Given the description of an element on the screen output the (x, y) to click on. 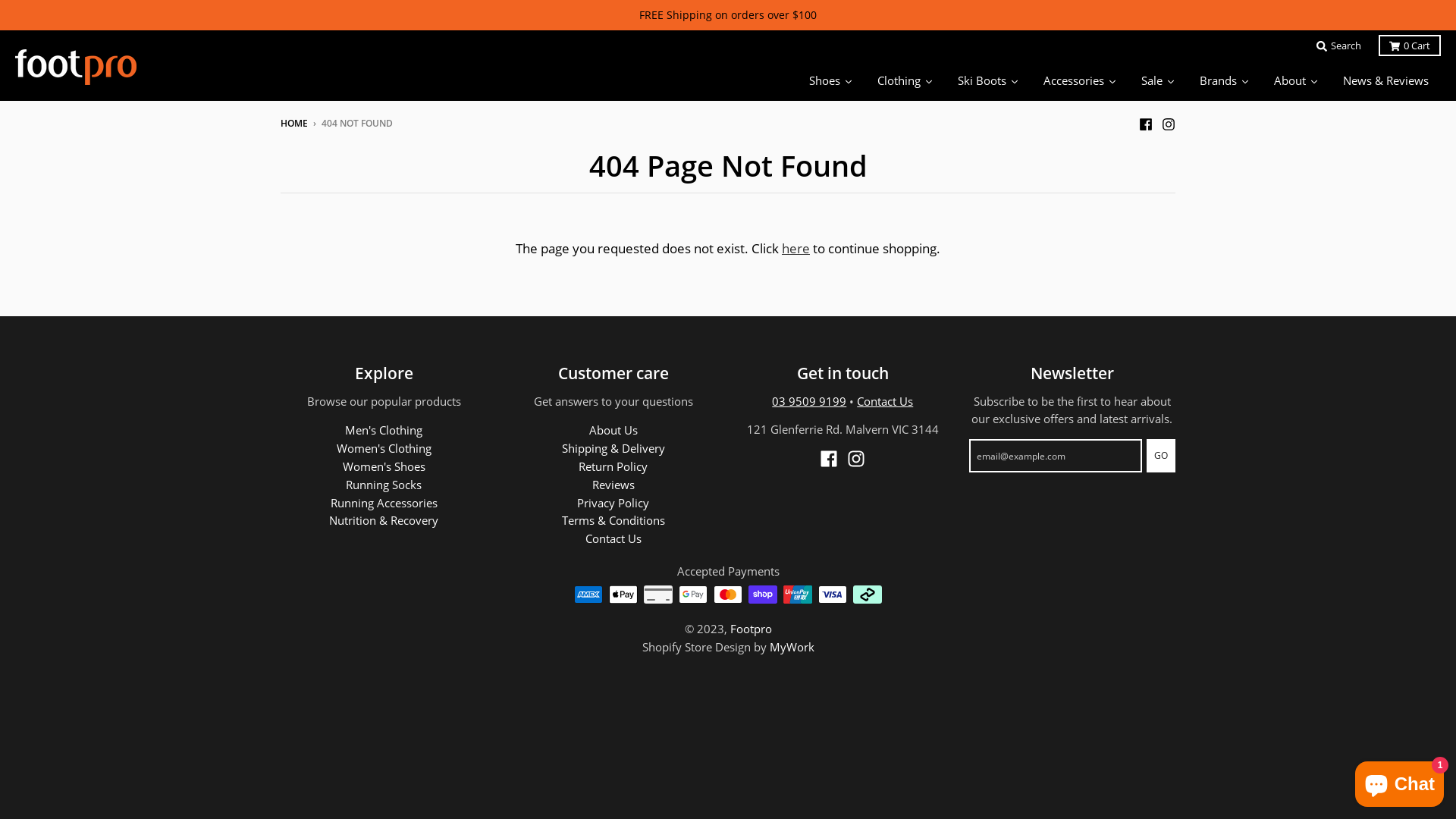
HOME Element type: text (293, 122)
Shoes Element type: text (831, 80)
Terms & Conditions Element type: text (613, 519)
Privacy Policy Element type: text (613, 502)
Return Policy Element type: text (612, 465)
Facebook - Footpro Element type: hover (1145, 122)
Footpro Element type: text (750, 628)
Running Accessories Element type: text (383, 502)
0 Cart Element type: text (1409, 45)
News & Reviews Element type: text (1385, 80)
03 9509 9199 Element type: text (808, 400)
About Element type: text (1295, 80)
Shopify online store chat Element type: hover (1399, 780)
Contact Us Element type: text (613, 538)
Women's Clothing Element type: text (383, 447)
Women's Shoes Element type: text (383, 465)
Sale Element type: text (1158, 80)
Running Socks Element type: text (383, 484)
About Us Element type: text (613, 429)
Accessories Element type: text (1080, 80)
Facebook - Footpro Element type: hover (828, 458)
GO Element type: text (1160, 455)
MyWork Element type: text (790, 646)
Contact Us Element type: text (884, 400)
here Element type: text (795, 248)
Search Element type: text (1338, 45)
Ski Boots Element type: text (988, 80)
Reviews Element type: text (613, 484)
Men's Clothing Element type: text (383, 429)
Instagram - Footpro Element type: hover (1168, 122)
Brands Element type: text (1224, 80)
Nutrition & Recovery Element type: text (383, 519)
Clothing Element type: text (905, 80)
Shipping & Delivery Element type: text (613, 447)
Instagram - Footpro Element type: hover (856, 458)
